Given the description of an element on the screen output the (x, y) to click on. 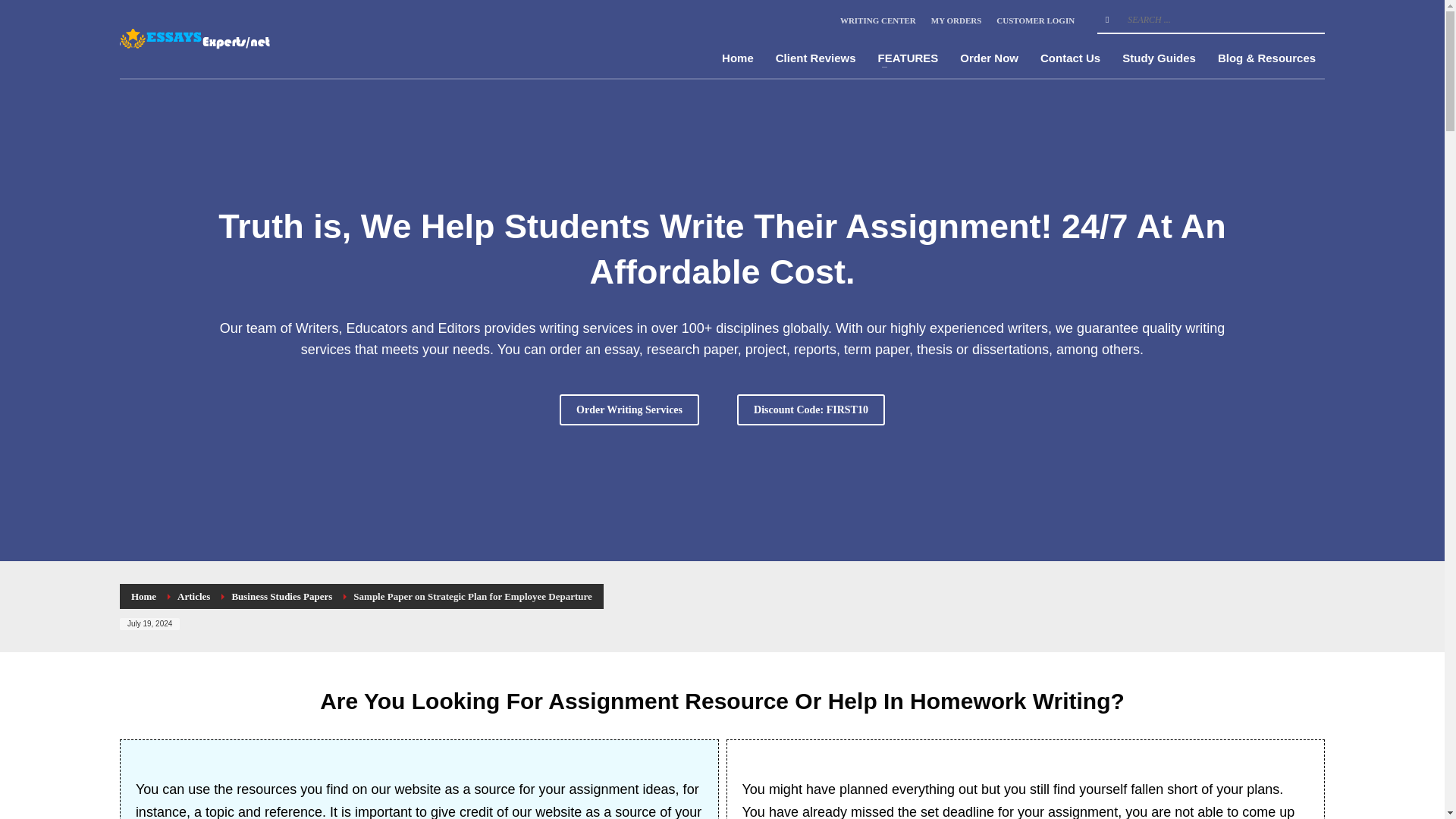
go (1107, 19)
Client Reviews (815, 57)
Business Studies Papers (281, 595)
Discount Code: FIRST10 (810, 409)
Articles (193, 595)
Order Writing Services (628, 409)
Home (143, 595)
Order Now (988, 57)
Articles (193, 595)
CUSTOMER LOGIN (1034, 20)
FEATURES (908, 57)
WRITING CENTER (877, 20)
MY ORDERS (956, 20)
Contact Us (1069, 57)
Home (737, 57)
